Given the description of an element on the screen output the (x, y) to click on. 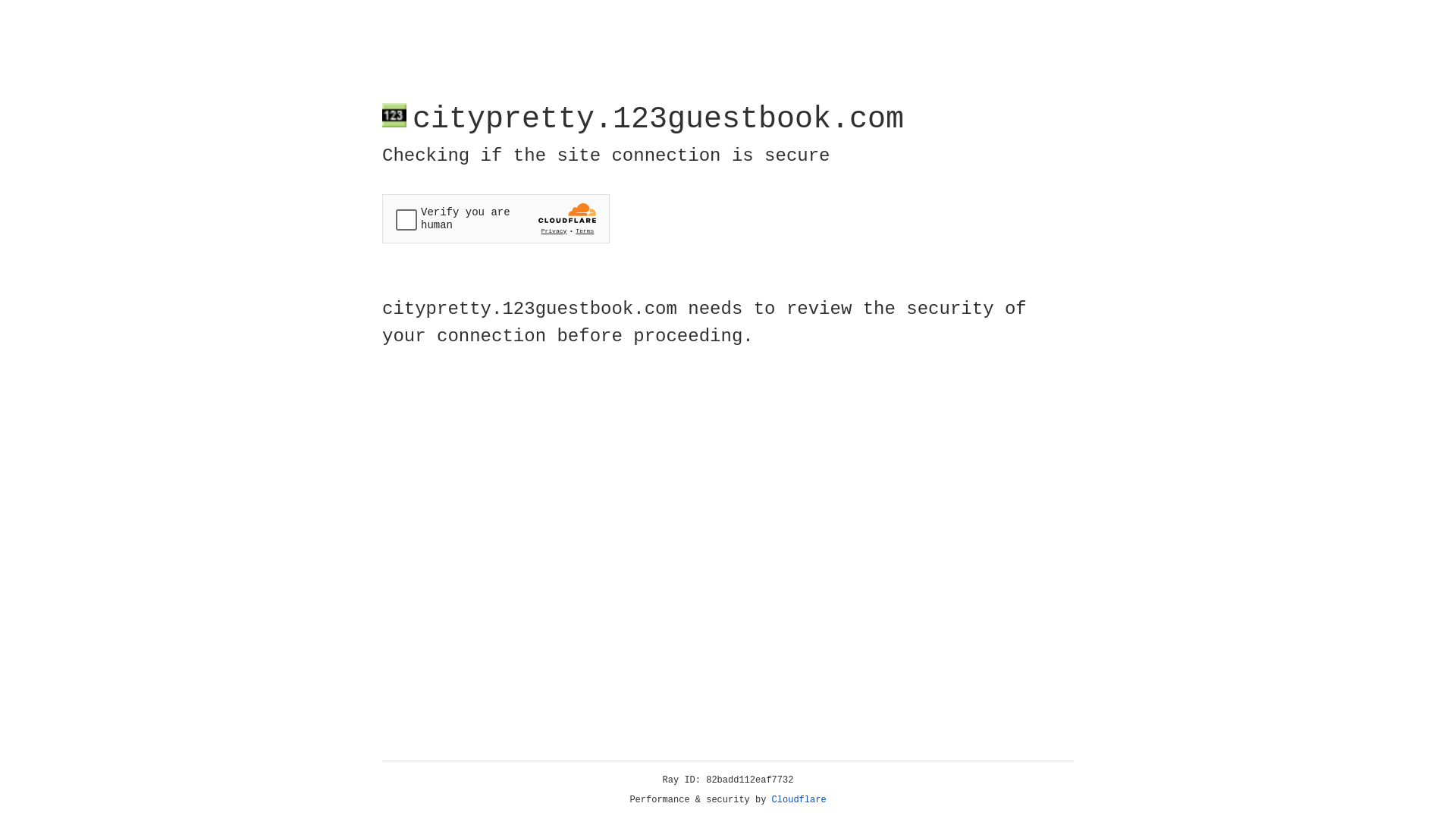
Cloudflare Element type: text (798, 799)
Widget containing a Cloudflare security challenge Element type: hover (495, 218)
